Given the description of an element on the screen output the (x, y) to click on. 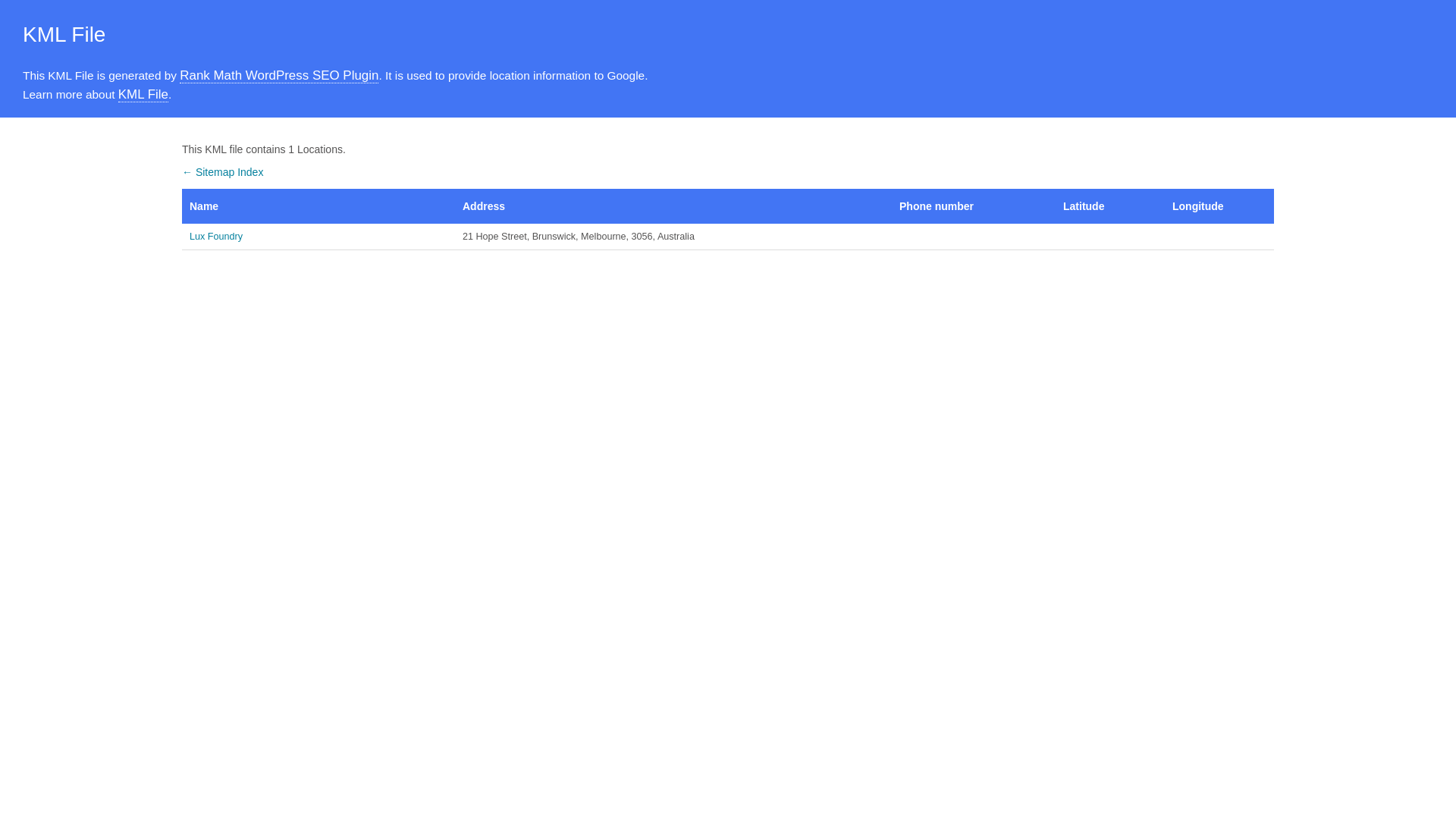
KML File Element type: text (143, 94)
Lux Foundry Element type: text (318, 236)
Rank Math WordPress SEO Plugin Element type: text (278, 75)
